Given the description of an element on the screen output the (x, y) to click on. 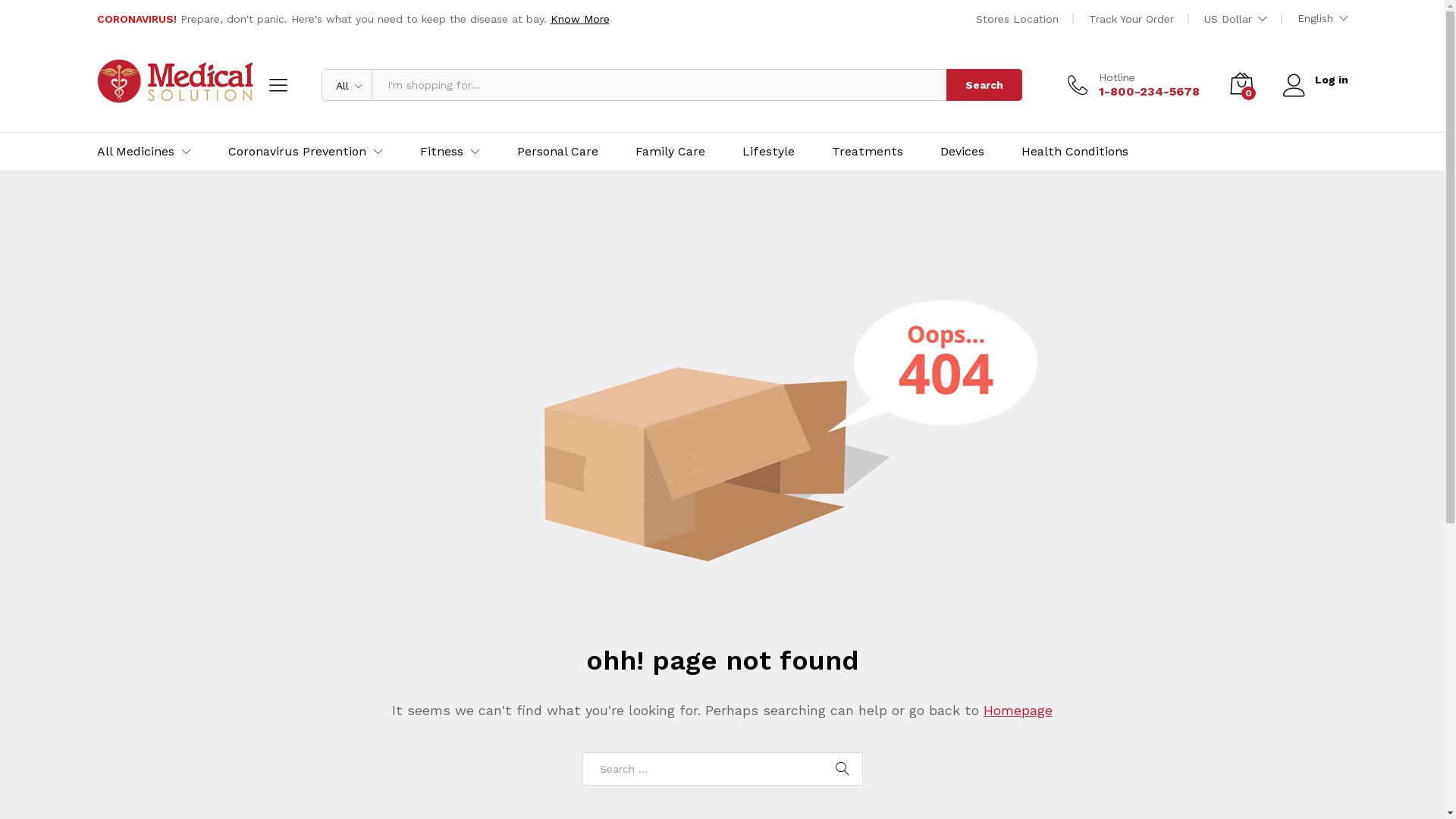
Family Care Element type: text (670, 151)
Track Your Order Element type: text (1130, 18)
Coronavirus Prevention Element type: text (296, 151)
European Euro Element type: text (1291, 83)
0 Element type: text (1241, 84)
German Element type: text (1364, 84)
Homepage Element type: text (1017, 710)
Stores Location Element type: text (1016, 18)
Lifestyle Element type: text (767, 151)
Personal Care Element type: text (557, 151)
Fitness Element type: text (441, 151)
English Element type: text (1321, 17)
All Medicines Element type: text (135, 151)
US Dollar Element type: text (1277, 61)
Treatments Element type: text (866, 151)
French Element type: text (1364, 60)
Devices Element type: text (962, 151)
Health Conditions Element type: text (1073, 151)
Search Element type: text (984, 84)
Log in Element type: text (1315, 79)
Search Element type: text (843, 768)
Know More Element type: text (579, 18)
